Given the description of an element on the screen output the (x, y) to click on. 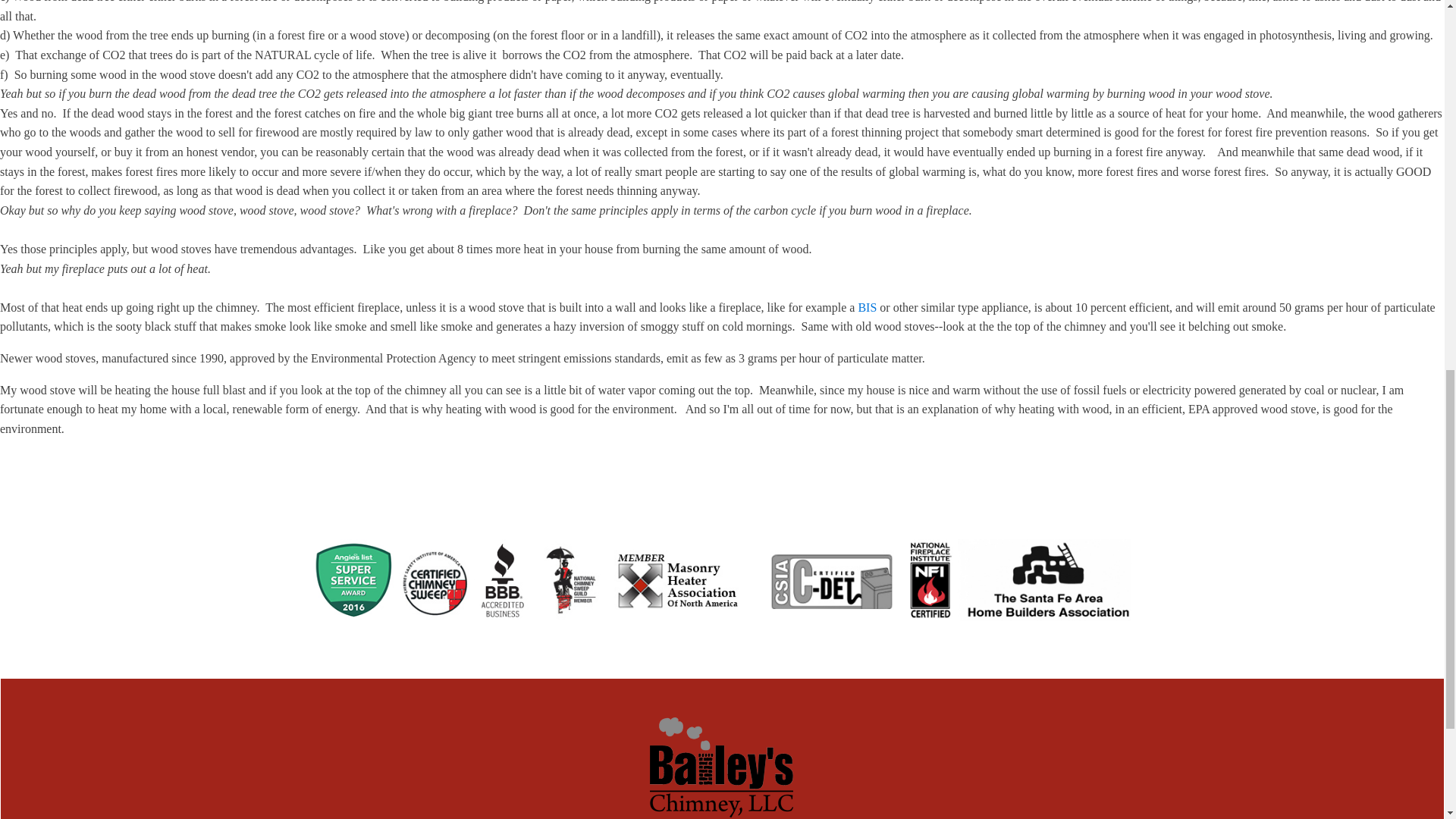
BIS (866, 307)
